Given the description of an element on the screen output the (x, y) to click on. 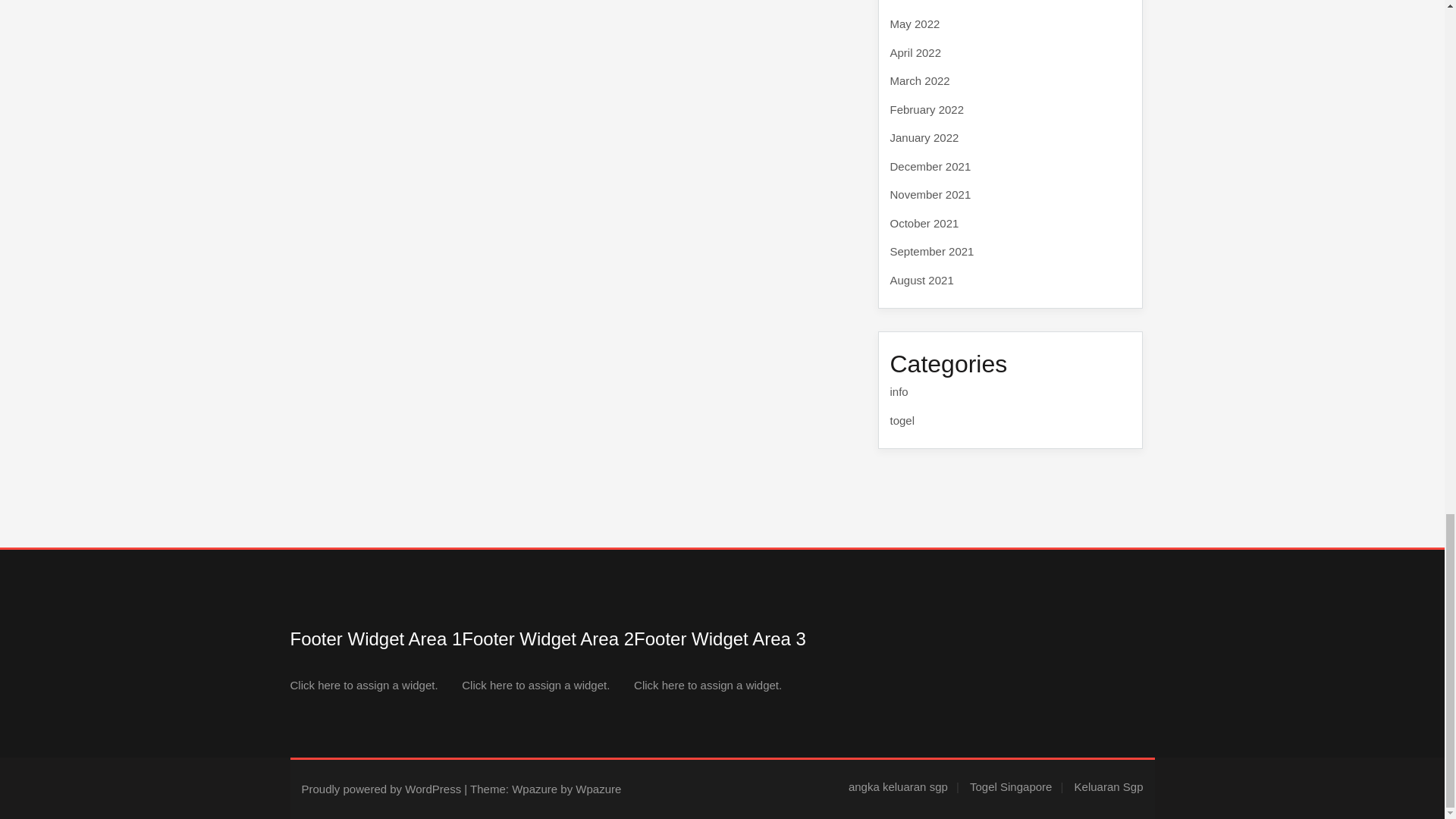
May 2022 (914, 23)
Keluaran Sgp (1108, 786)
June 2022 (916, 0)
Togel Singapore (1015, 786)
angka keluaran sgp (903, 786)
